Given the description of an element on the screen output the (x, y) to click on. 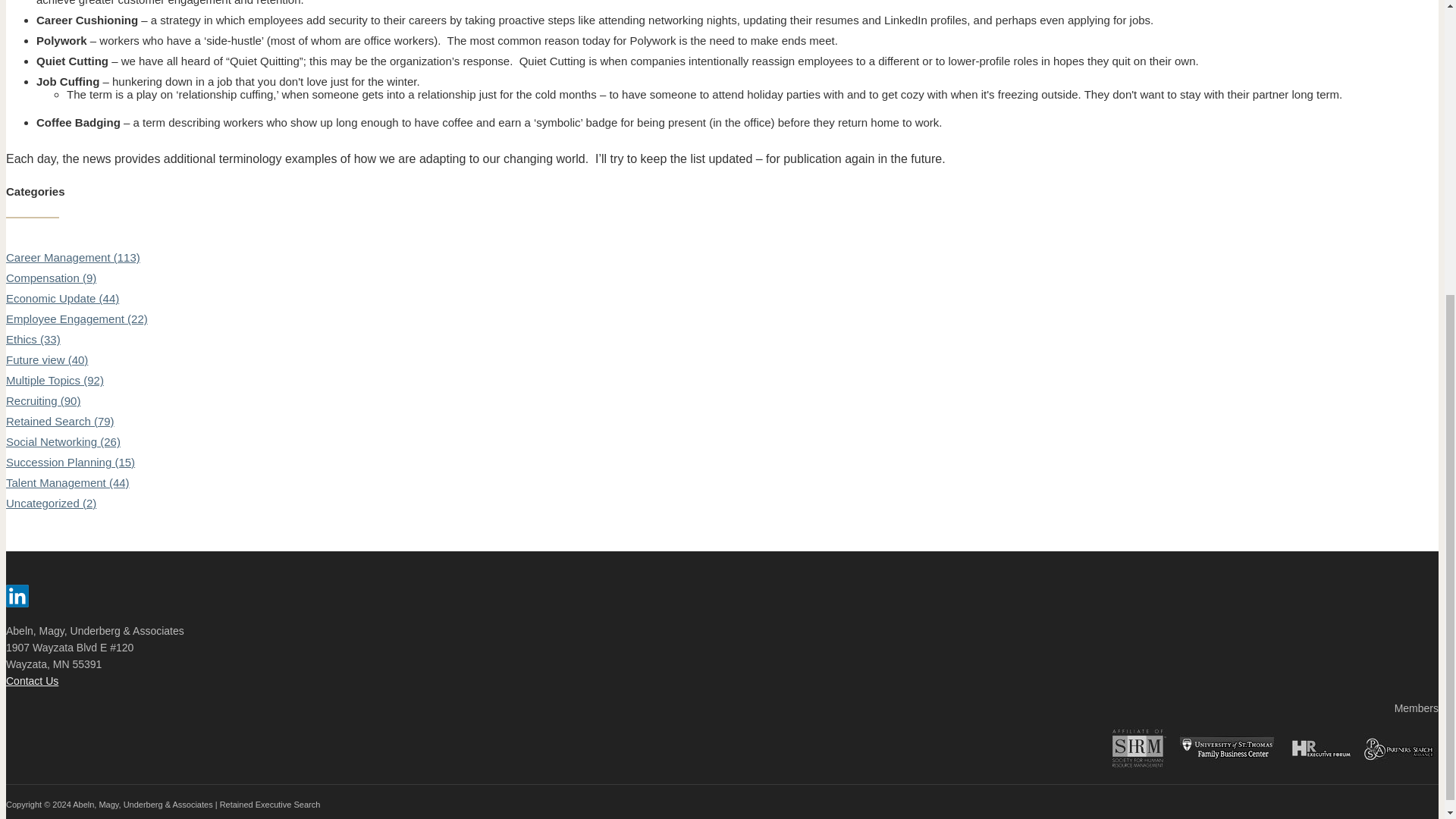
Contact Us (31, 680)
